Given the description of an element on the screen output the (x, y) to click on. 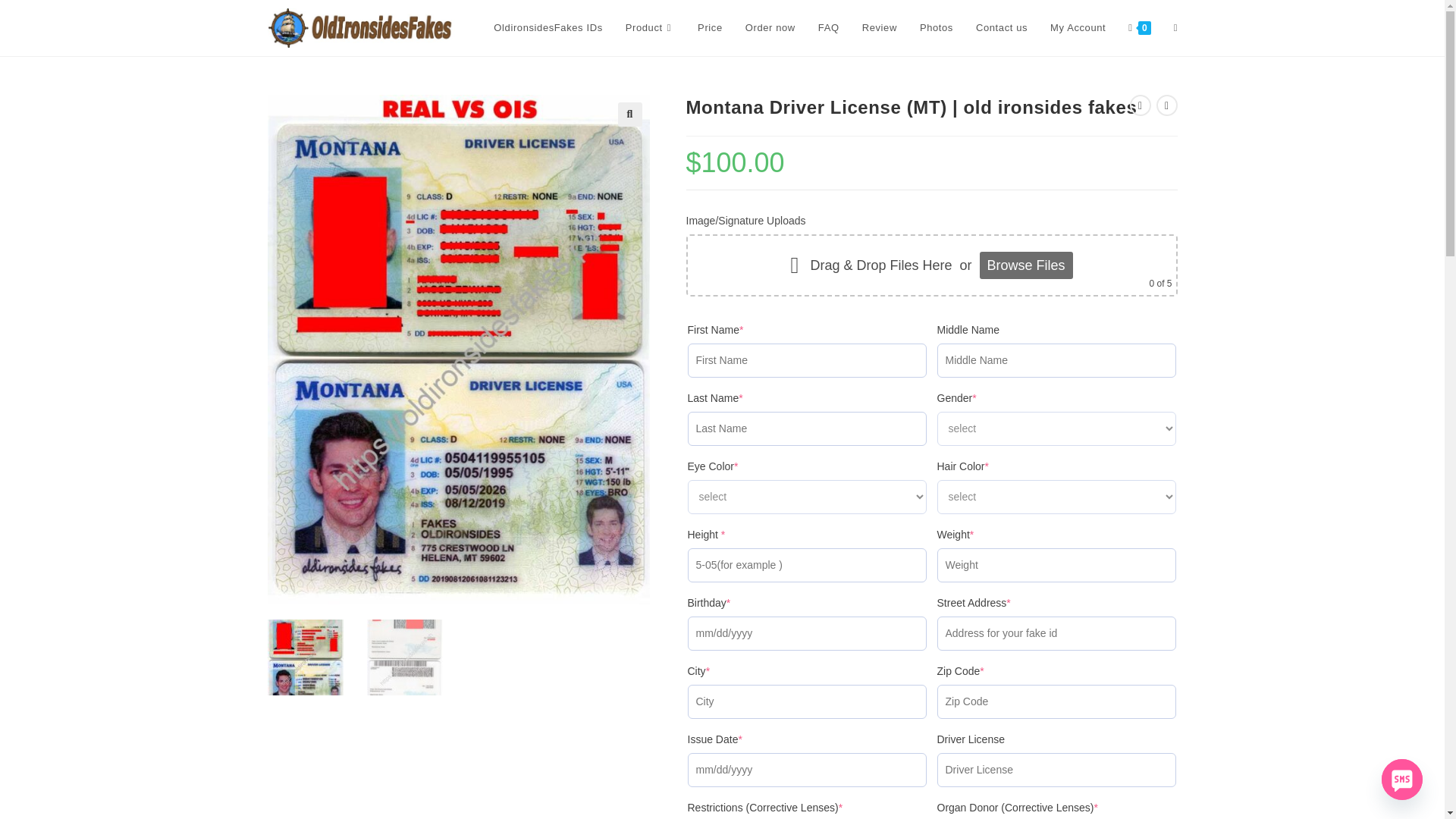
Product (649, 28)
Review (879, 28)
Contact us (1001, 28)
810 (1093, 24)
My Account (1077, 28)
Photos (935, 28)
Order now (769, 28)
OldironsidesFakes IDs (546, 28)
